Given the description of an element on the screen output the (x, y) to click on. 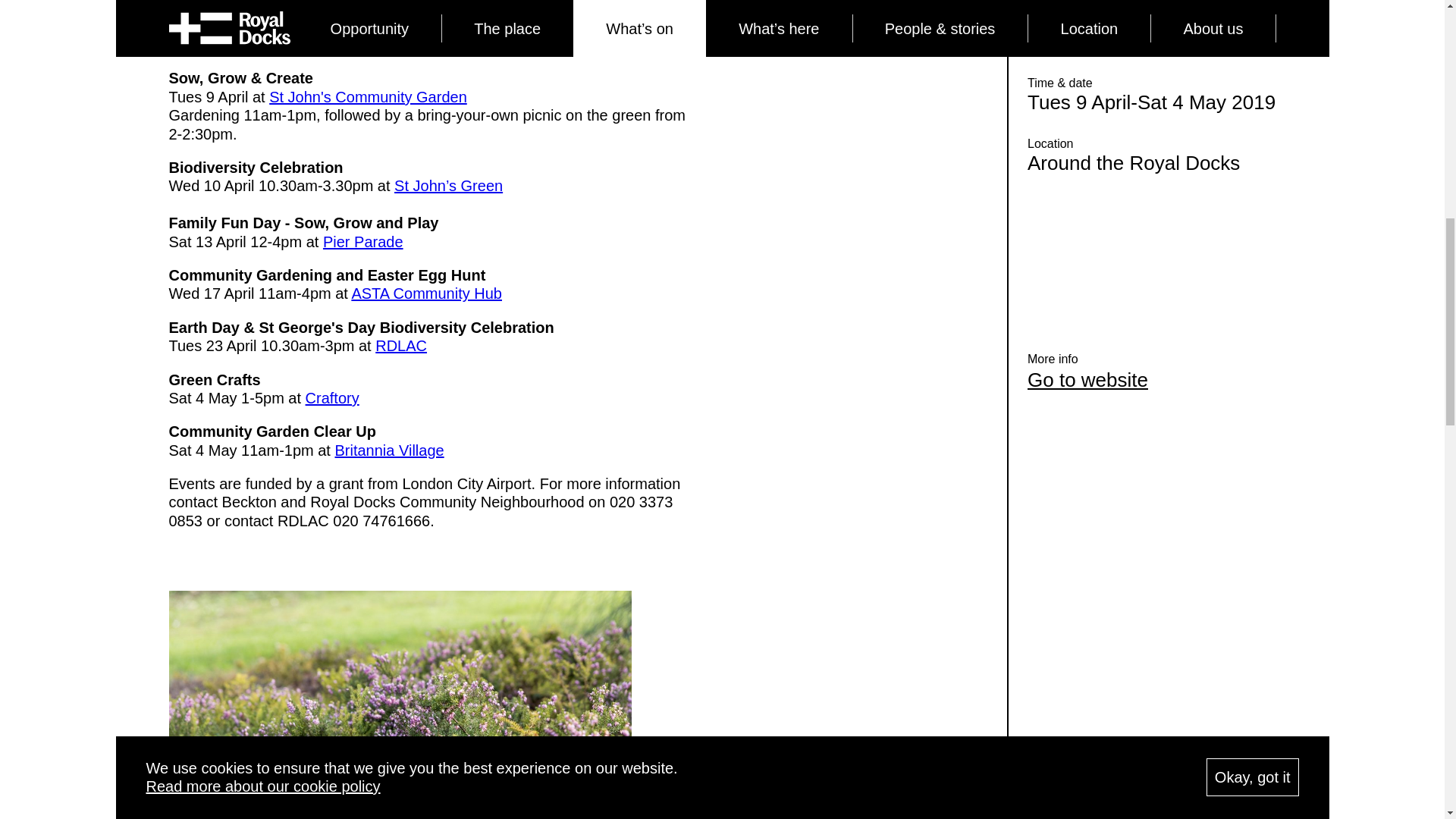
RDLAC (400, 345)
St John's Community Garden (368, 96)
Britannia Village (389, 450)
Pier Parade (363, 241)
ASTA Community Hub (426, 293)
Craftory (332, 397)
